Given the description of an element on the screen output the (x, y) to click on. 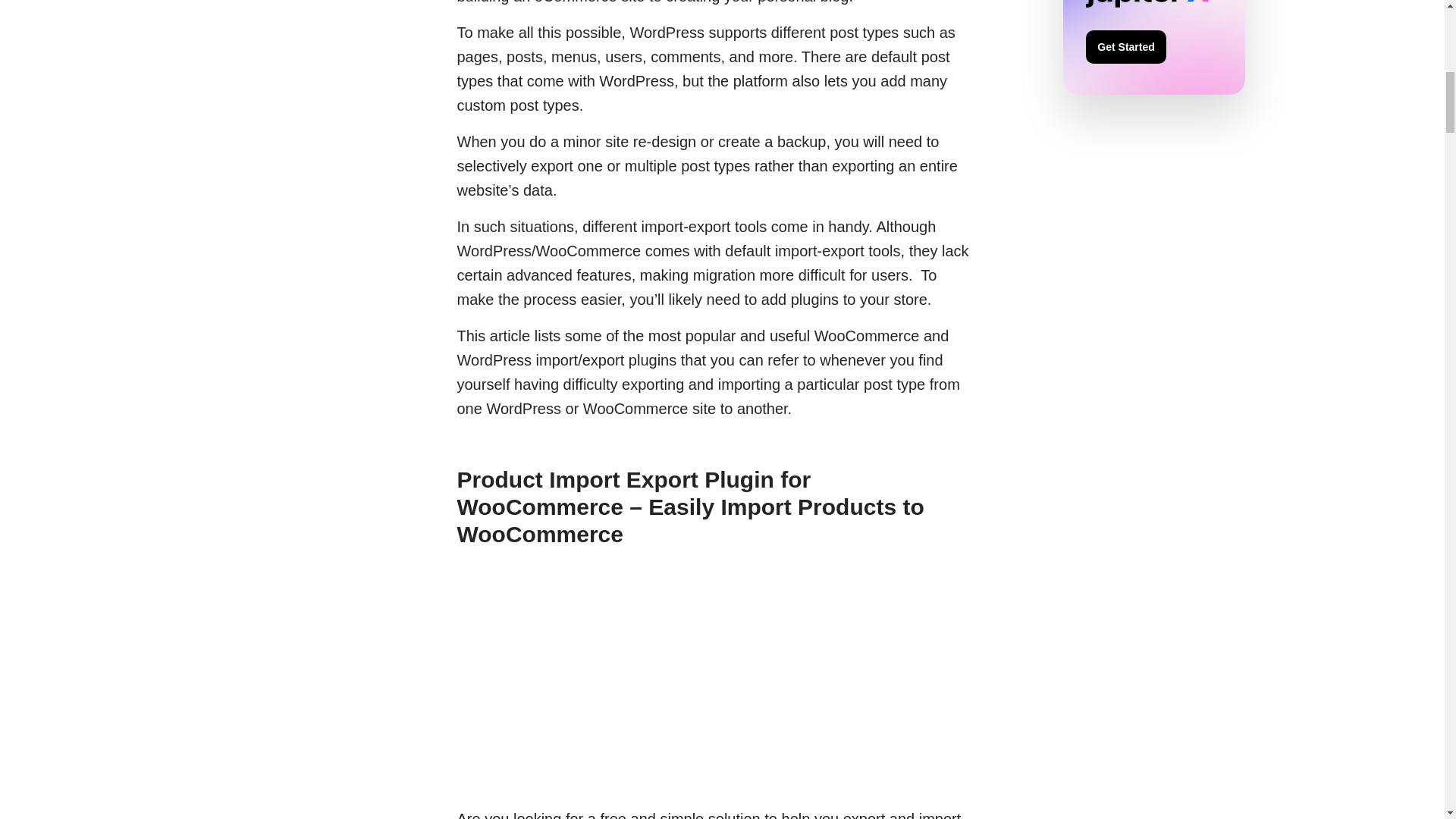
Get Started (1126, 46)
